Given the description of an element on the screen output the (x, y) to click on. 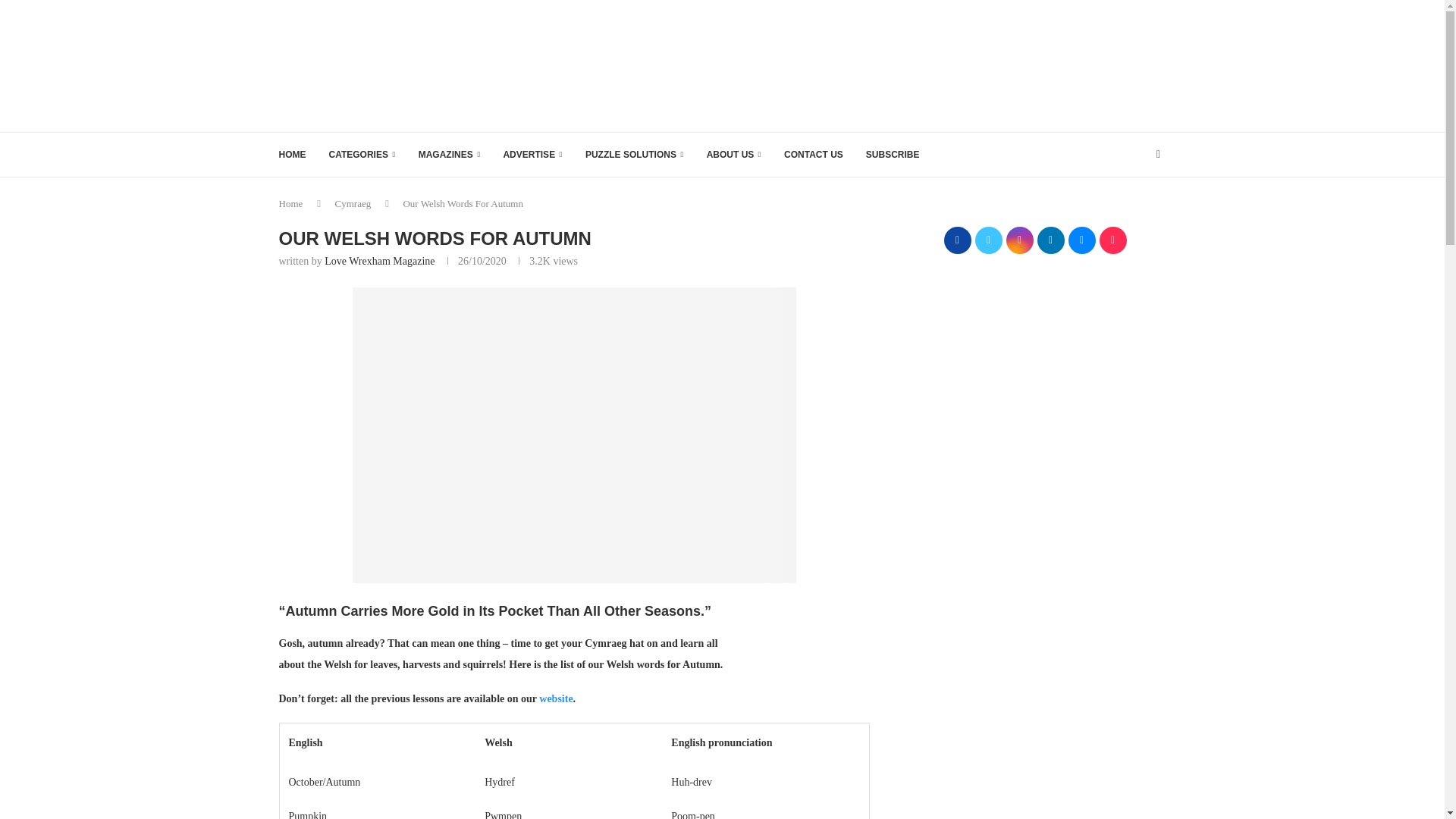
Advertisement (890, 64)
PUZZLE SOLUTIONS (634, 154)
ABOUT US (733, 154)
MAGAZINES (449, 154)
ADVERTISE (532, 154)
Autumn Leaves (574, 435)
CATEGORIES (362, 154)
